Given the description of an element on the screen output the (x, y) to click on. 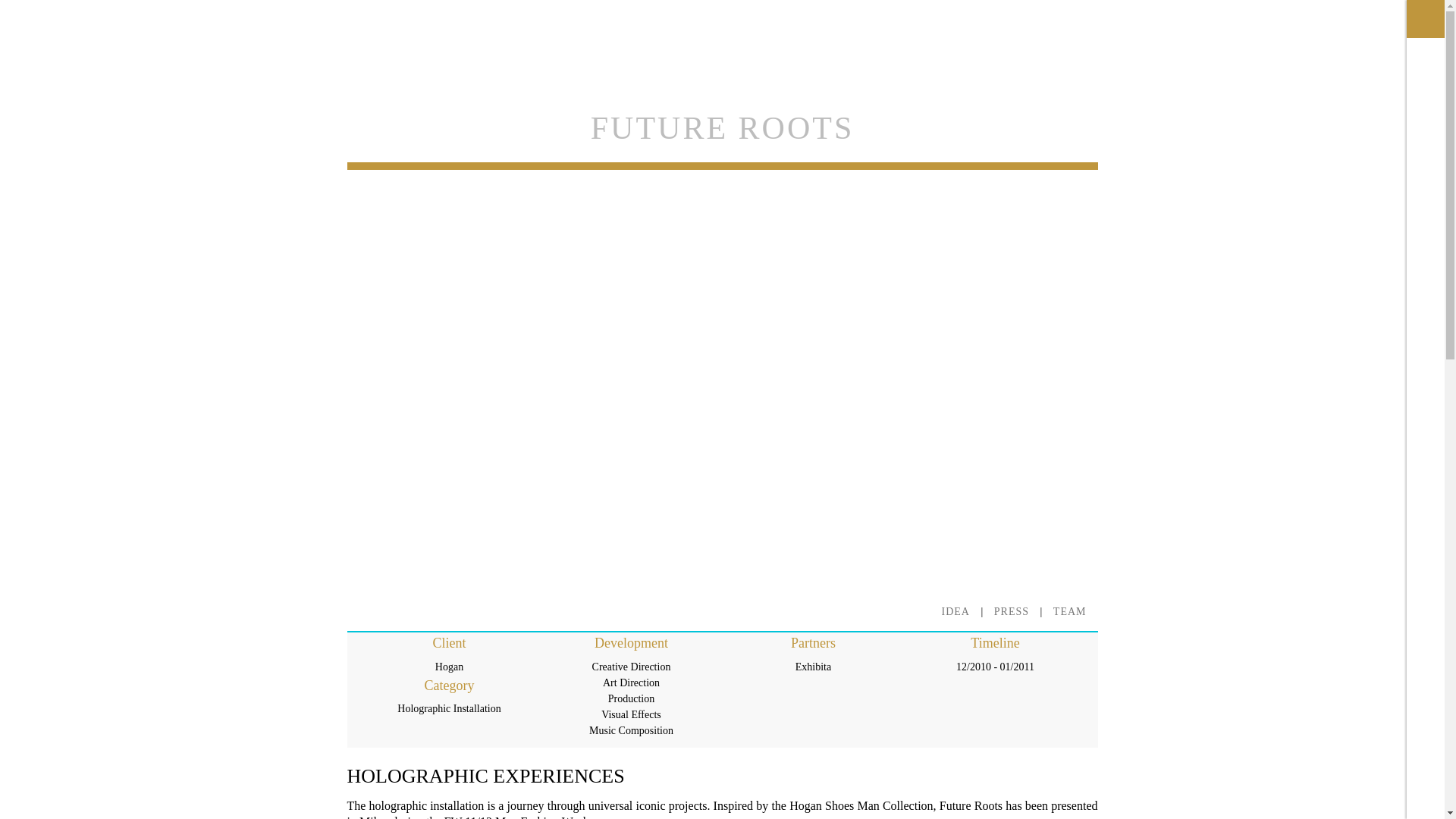
PRESS (1011, 611)
IDEA (955, 611)
TEAM (1069, 611)
